Given the description of an element on the screen output the (x, y) to click on. 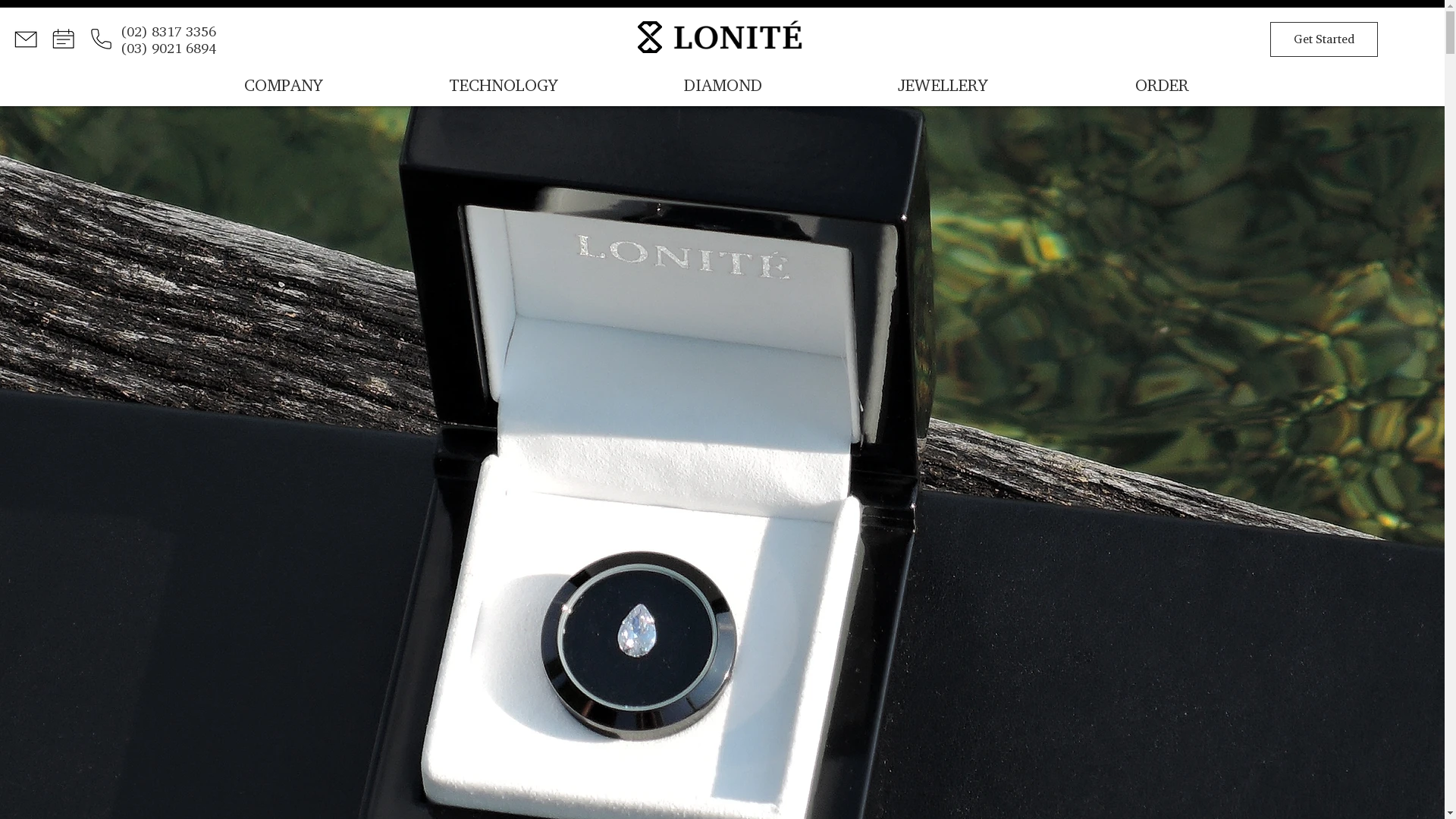
COMPANY Element type: text (283, 84)
(02) 8317 3356  (03) 9021 6894 Element type: text (169, 39)
DIAMOND Element type: text (723, 84)
TECHNOLOGY Element type: text (503, 84)
Get Started Element type: text (1323, 38)
